Given the description of an element on the screen output the (x, y) to click on. 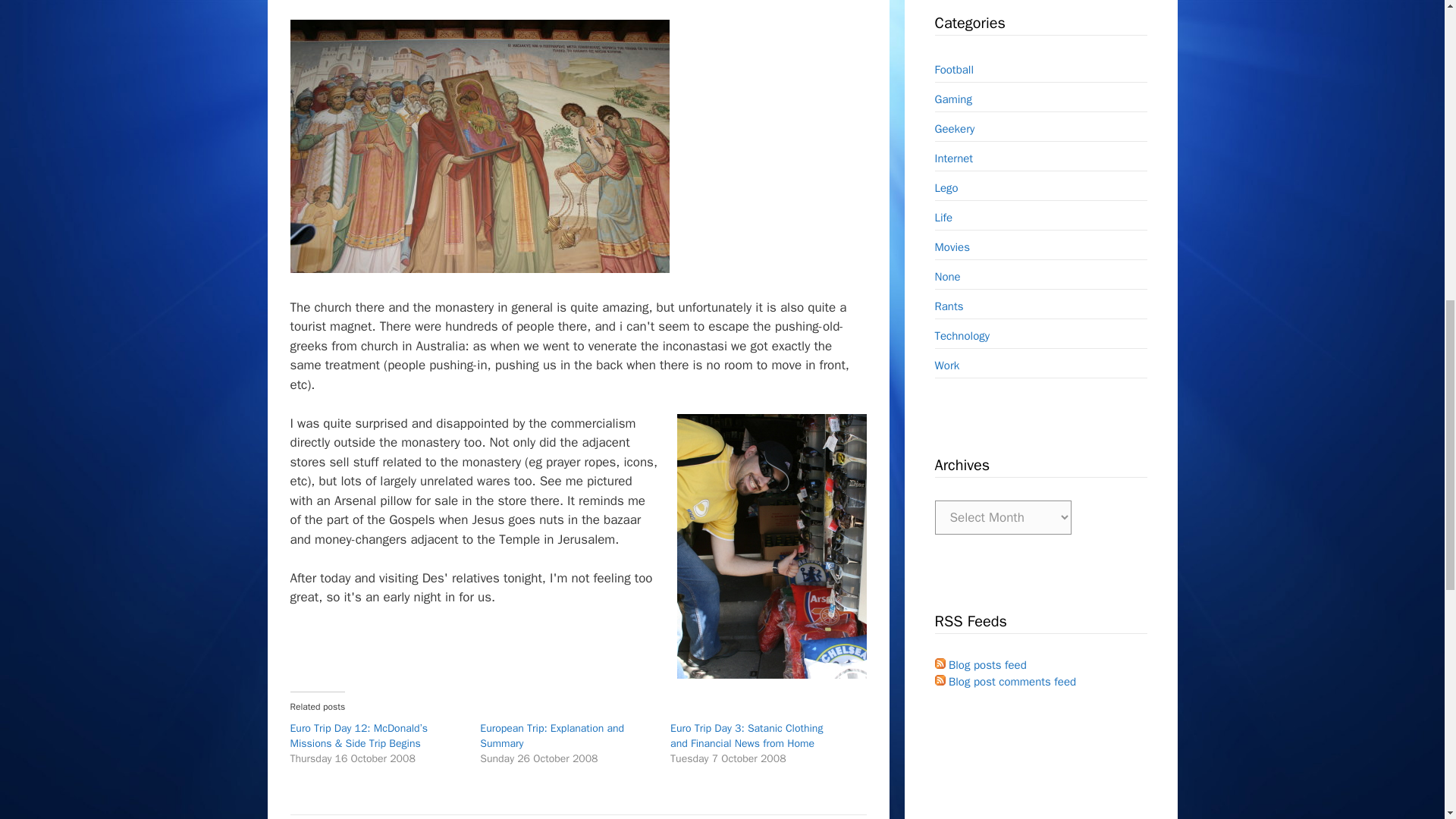
Blog posts feed (980, 664)
Technology (962, 336)
Rants (948, 305)
Work (946, 365)
Lego (946, 187)
Internet (953, 158)
Blog post comments feed (1004, 681)
European Trip: Explanation and Summary (552, 735)
Geekery (954, 128)
European Trip: Explanation and Summary (552, 735)
Movies (951, 246)
Gaming (952, 99)
Scroll back to top (1406, 720)
